Given the description of an element on the screen output the (x, y) to click on. 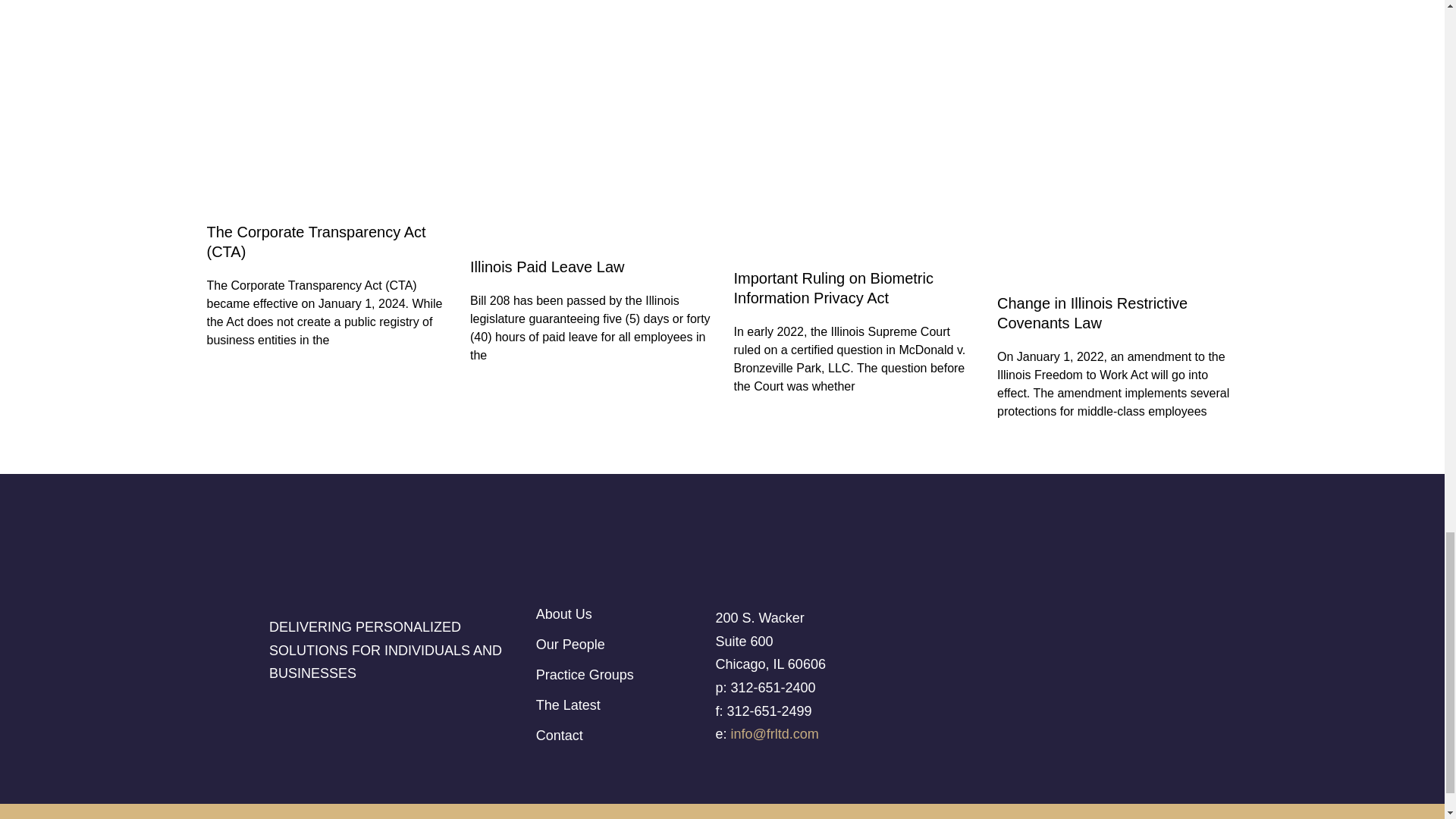
Important Ruling on Biometric Information Privacy Act (833, 288)
Practice Groups (621, 675)
Change in Illinois Restrictive Covenants Law (1092, 312)
Contact (621, 735)
Our People (621, 644)
The Latest (621, 705)
About Us (621, 613)
200 S Wacker, chicago, IL 60606 (1066, 670)
Illinois Paid Leave Law (547, 266)
